Given the description of an element on the screen output the (x, y) to click on. 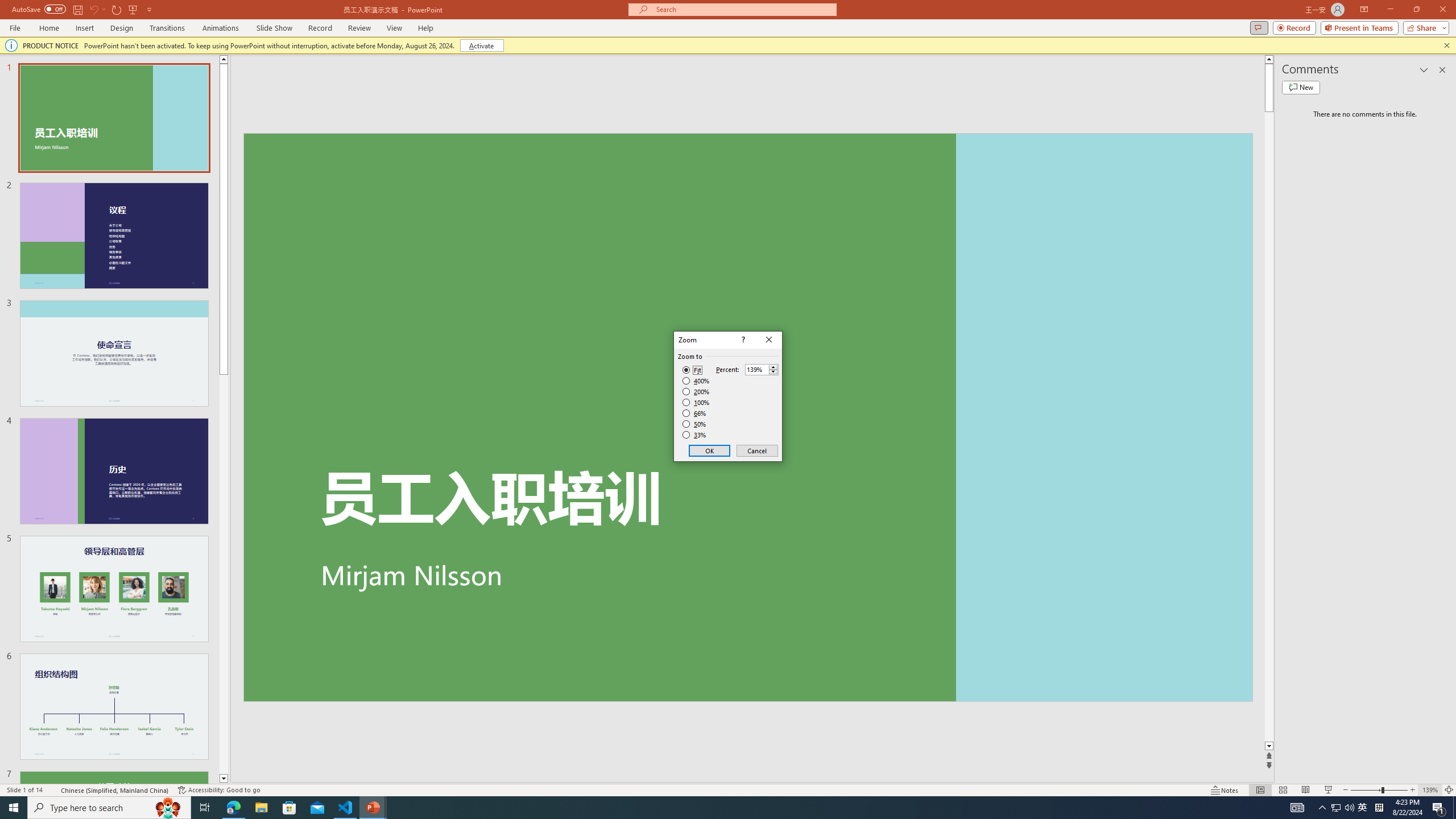
AutomationID: 4105 (1297, 807)
Tray Input Indicator - Chinese (Simplified, China) (1378, 807)
Activate (481, 45)
Start (13, 807)
Microsoft Store (289, 807)
Action Center, 1 new notification (1439, 807)
Slide Sorter (1282, 790)
Present in Teams (1359, 27)
Undo (96, 9)
Review (359, 28)
Microsoft search (742, 9)
Comments (1259, 27)
